Given the description of an element on the screen output the (x, y) to click on. 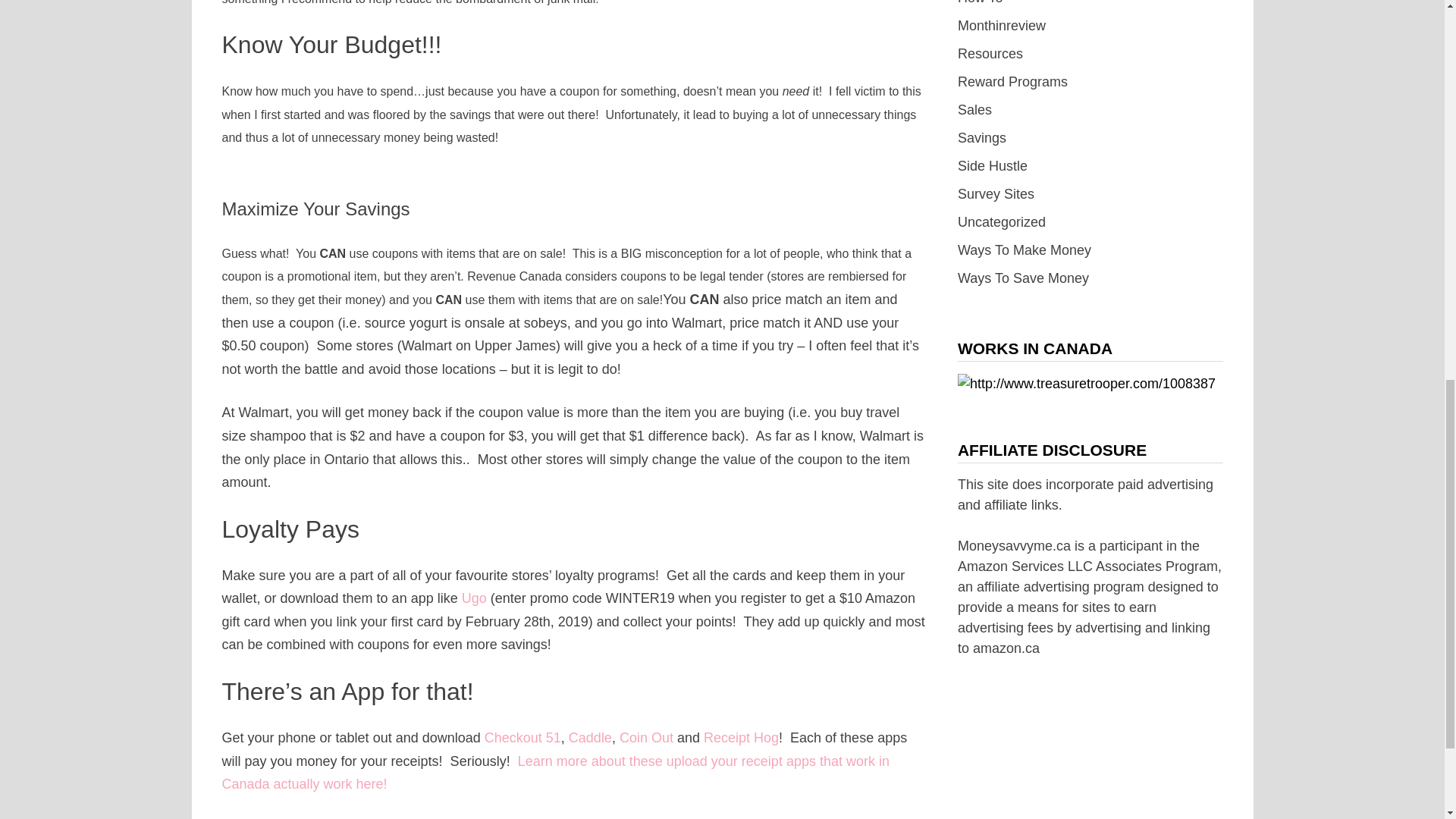
Checkout 51 (522, 737)
Reward Programs (1012, 81)
Receipt Hog (740, 737)
How To (980, 2)
Caddle (590, 737)
Ugo (473, 598)
Resources (990, 53)
Monthinreview (1001, 25)
Coin Out (646, 737)
